Given the description of an element on the screen output the (x, y) to click on. 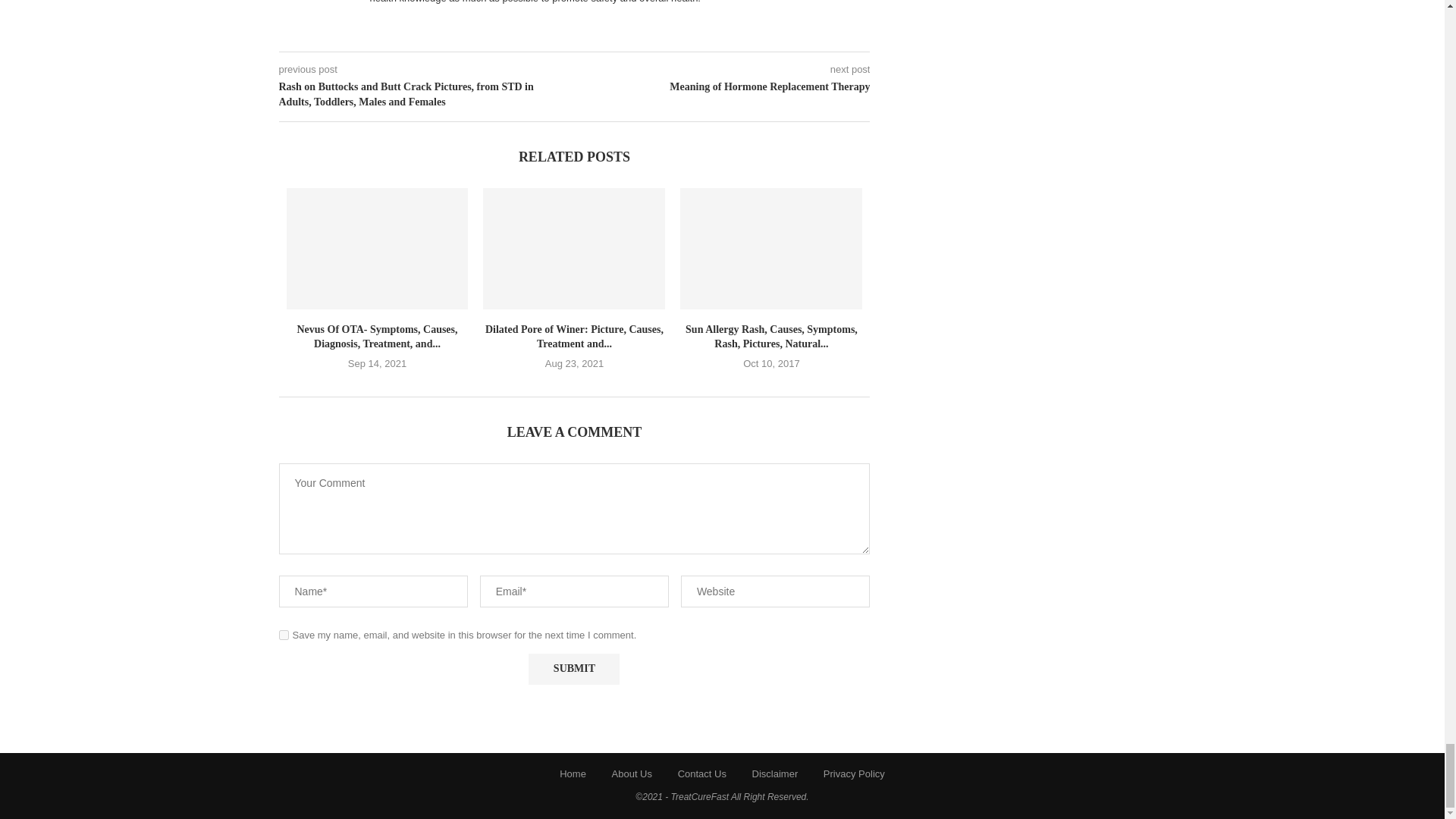
yes (283, 634)
Submit (574, 668)
Meaning of Hormone Replacement Therapy (722, 87)
